Given the description of an element on the screen output the (x, y) to click on. 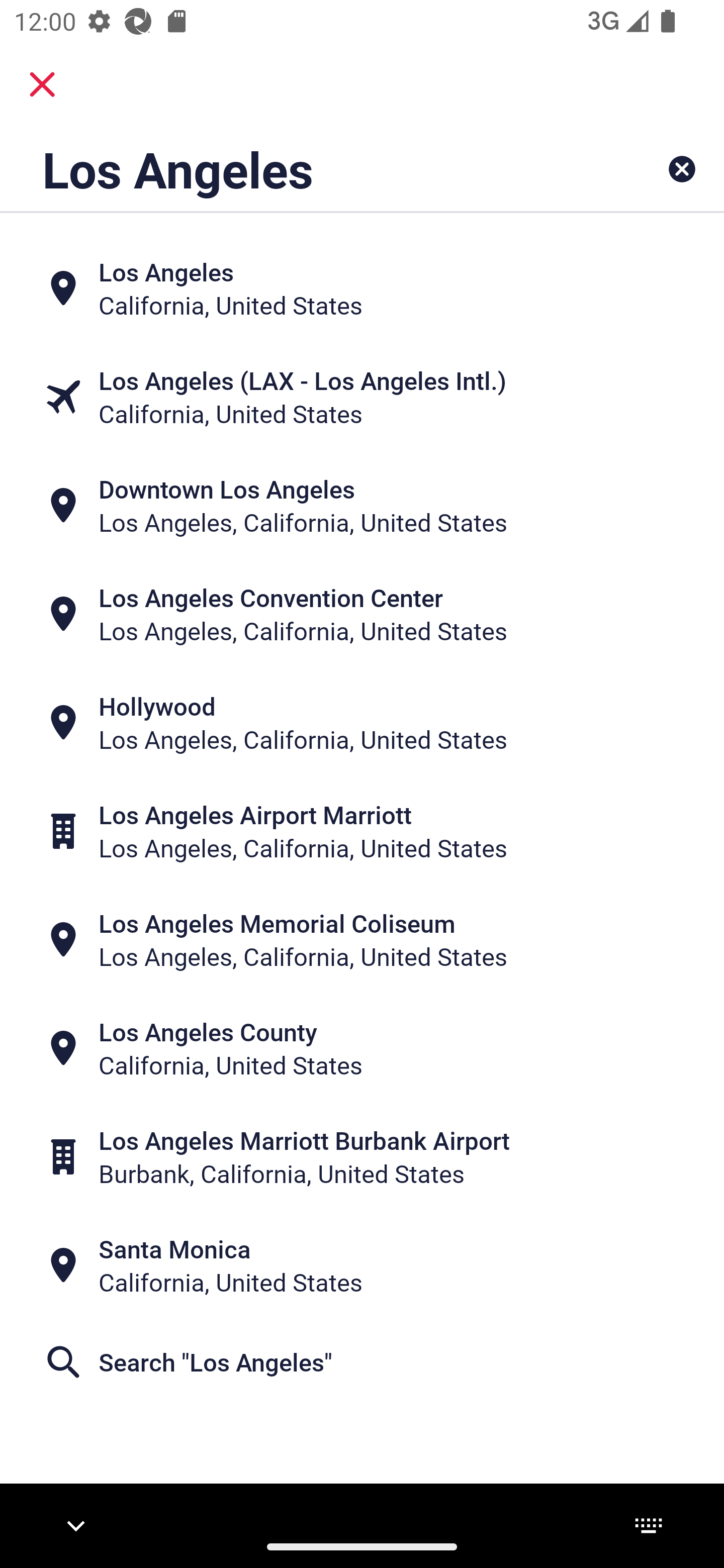
close. (42, 84)
Clear (681, 169)
Los Angeles (298, 169)
Los Angeles California, United States (362, 288)
Hollywood Los Angeles, California, United States (362, 722)
Los Angeles County California, United States (362, 1048)
Santa Monica California, United States (362, 1265)
Search "Los Angeles" (361, 1362)
